Given the description of an element on the screen output the (x, y) to click on. 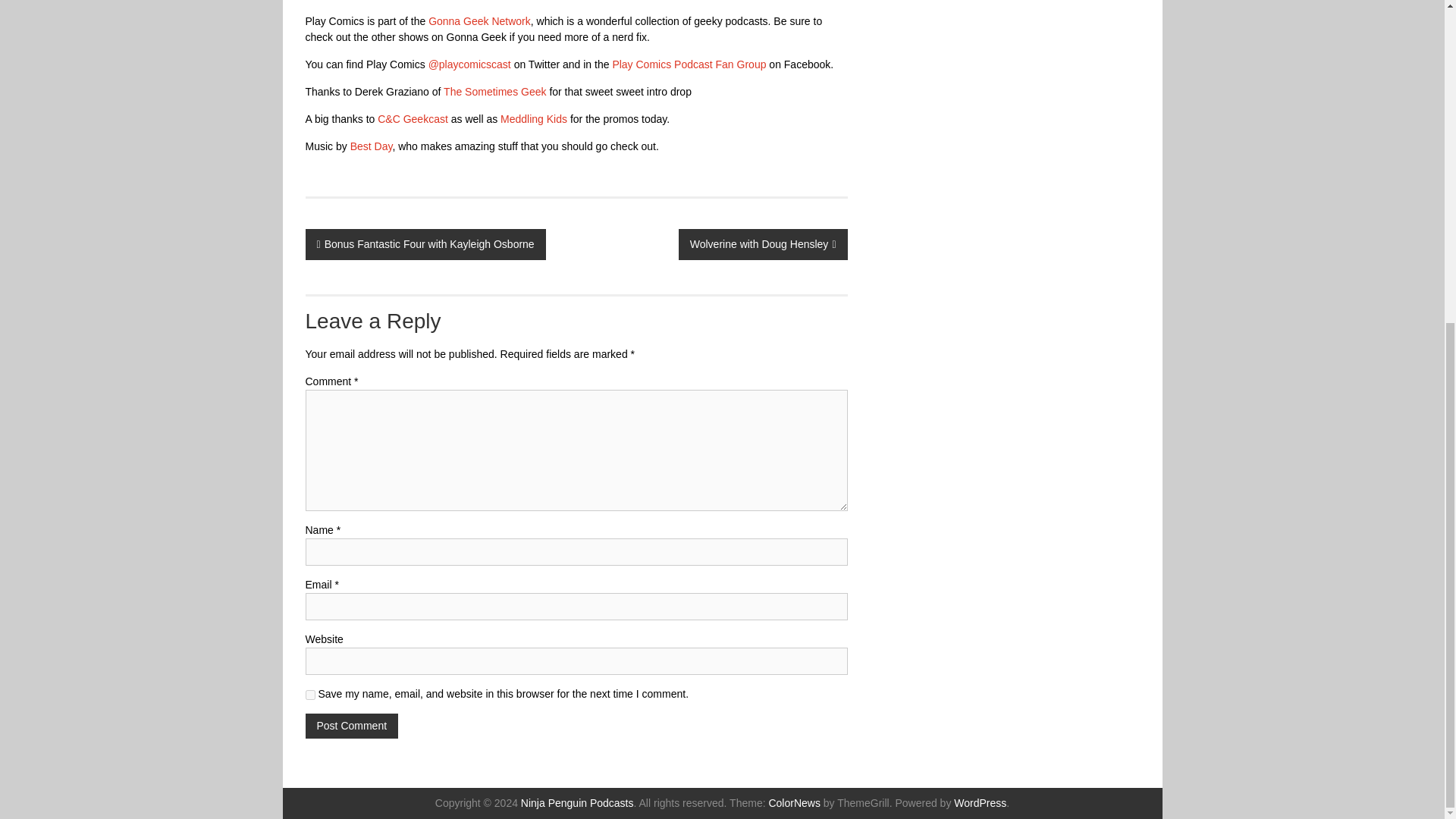
Ninja Penguin Podcasts (577, 802)
ColorNews (793, 802)
yes (309, 695)
Ninja Penguin Podcasts (577, 802)
Meddling Kids  (535, 119)
ColorNews (793, 802)
Play Comics Podcast Fan Group (688, 64)
Post Comment (350, 725)
Bonus Fantastic Four with Kayleigh Osborne (424, 244)
Post Comment (350, 725)
